Given the description of an element on the screen output the (x, y) to click on. 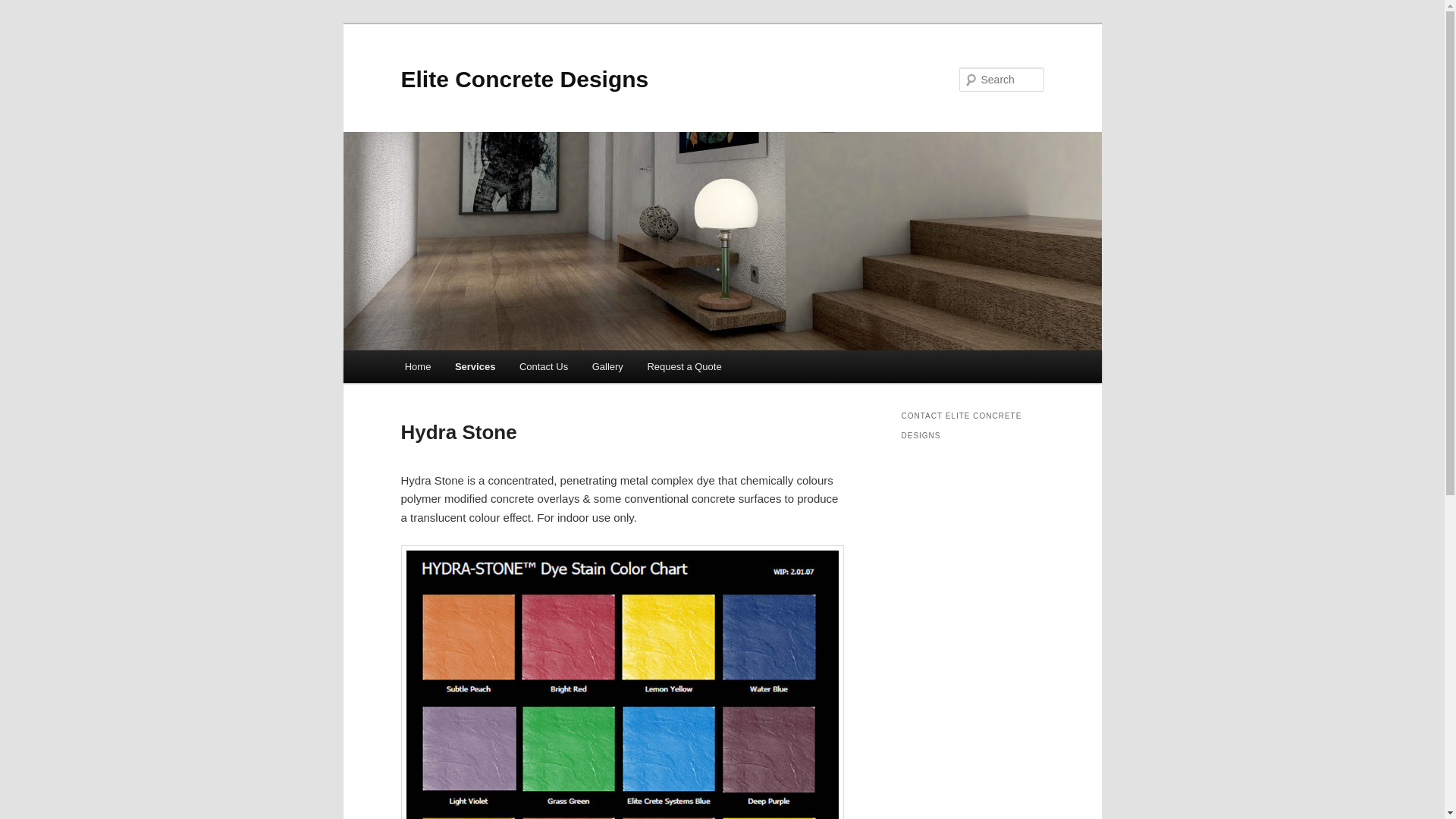
Gallery Element type: text (607, 366)
Contact Us Element type: text (543, 366)
Search Element type: text (24, 8)
Home Element type: text (417, 366)
Request a Quote Element type: text (684, 366)
Elite Concrete Designs Element type: text (524, 78)
Services Element type: text (474, 366)
Skip to primary content Element type: text (22, 22)
